Given the description of an element on the screen output the (x, y) to click on. 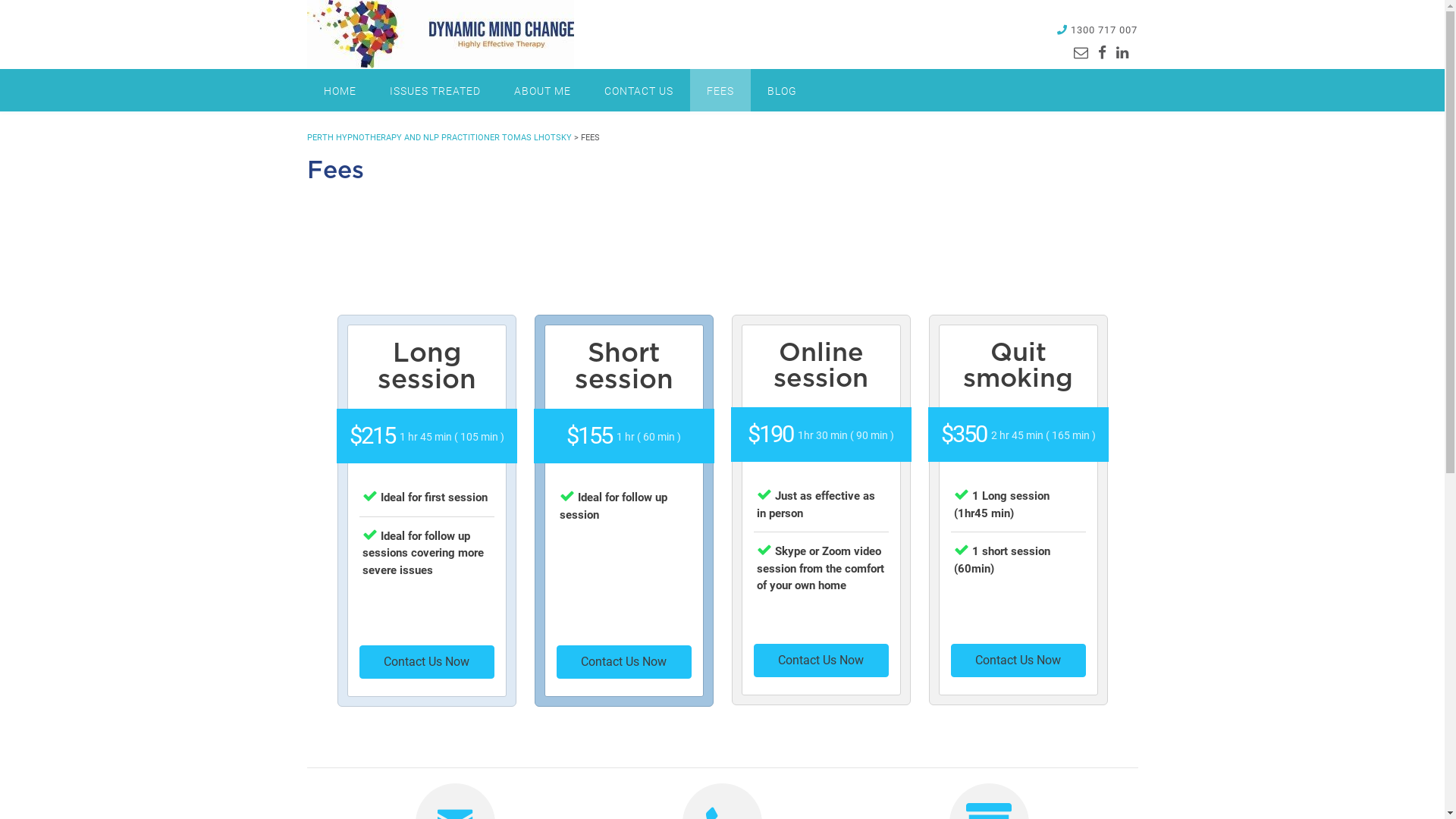
HOME Element type: text (339, 90)
Perth Hypnotherapy and NLP Practitioner Tomas Lhotsky Element type: hover (439, 34)
Contact Us Now Element type: text (1017, 660)
Send us an email Element type: hover (1080, 52)
Find us on Facebook Element type: hover (1102, 52)
FEES Element type: text (720, 90)
ABOUT ME Element type: text (542, 90)
Contact Us Now Element type: text (426, 661)
PERTH HYPNOTHERAPY AND NLP PRACTITIONER TOMAS LHOTSKY Element type: text (438, 137)
Contact Us Now Element type: text (820, 660)
Find us on LinkedIn Element type: hover (1122, 52)
CONTACT US Element type: text (637, 90)
ISSUES TREATED Element type: text (435, 90)
Contact Us Now Element type: text (623, 661)
BLOG Element type: text (781, 90)
1300 717 007 Element type: text (1103, 29)
